Given the description of an element on the screen output the (x, y) to click on. 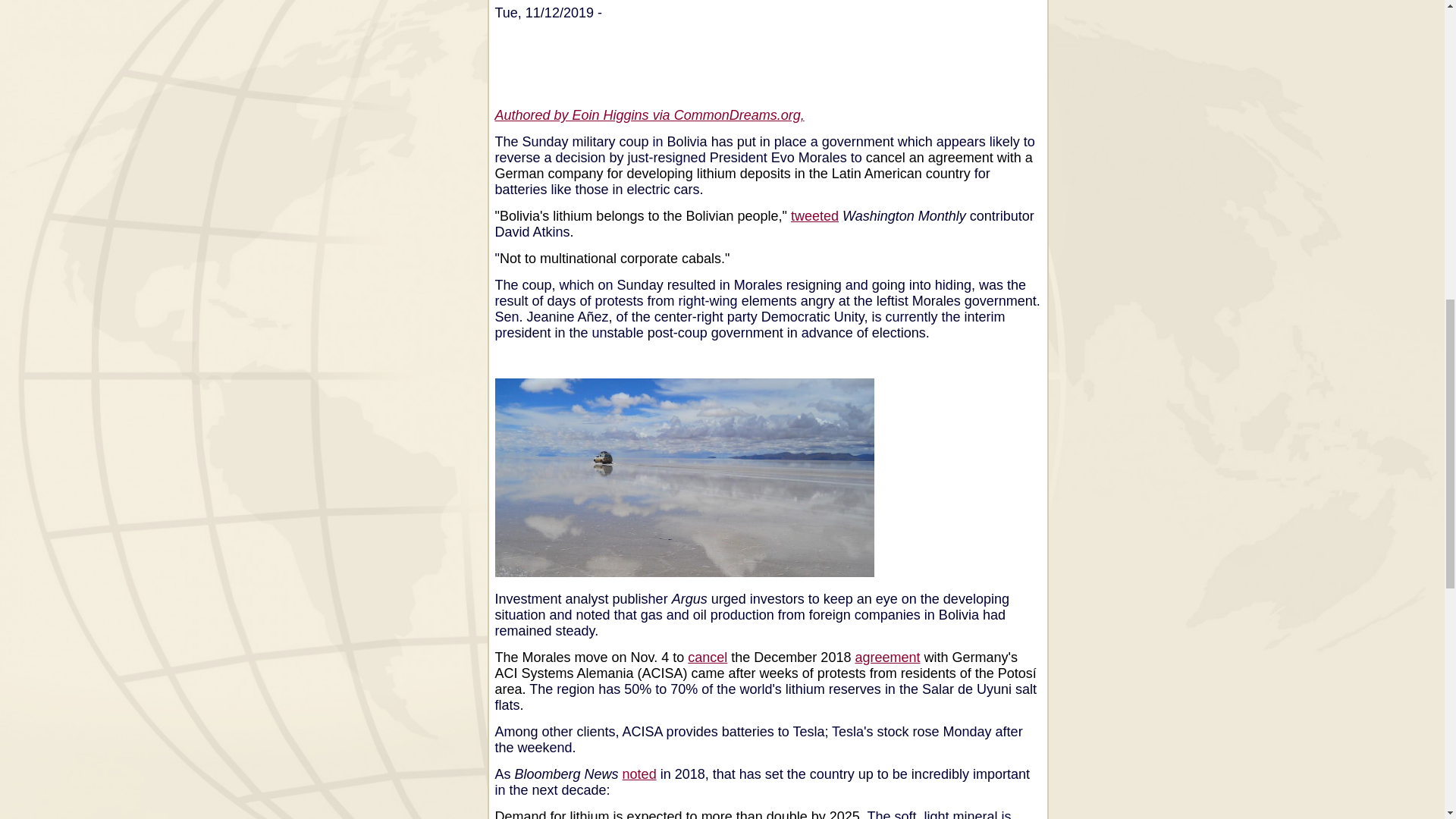
noted (639, 774)
cancel (706, 657)
Authored by Eoin Higgins via CommonDreams.org, (649, 114)
tweeted (814, 215)
agreement (887, 657)
